Given the description of an element on the screen output the (x, y) to click on. 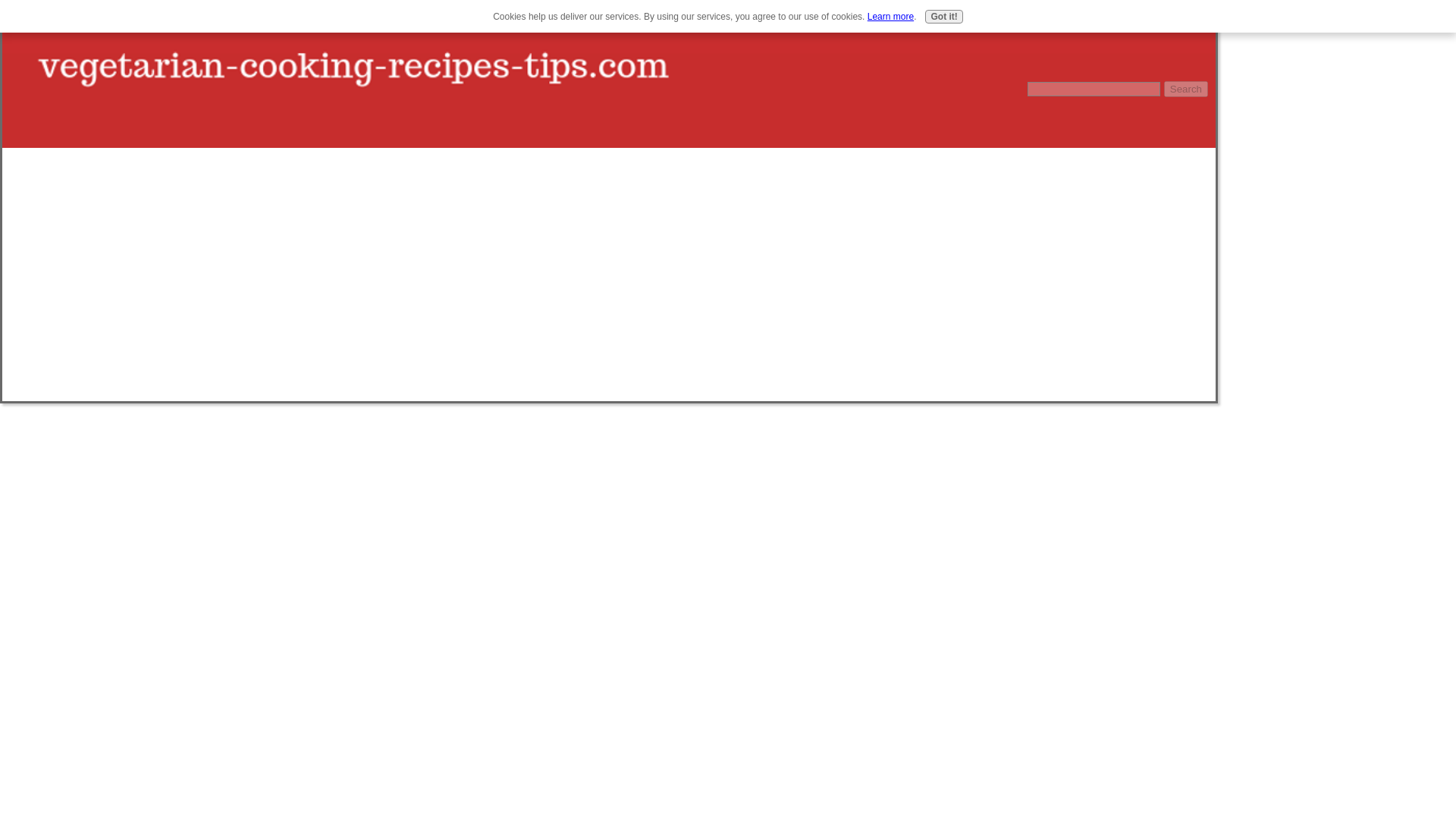
Learn more (890, 16)
Search (1185, 89)
Search (1185, 89)
Got it! (943, 16)
